Given the description of an element on the screen output the (x, y) to click on. 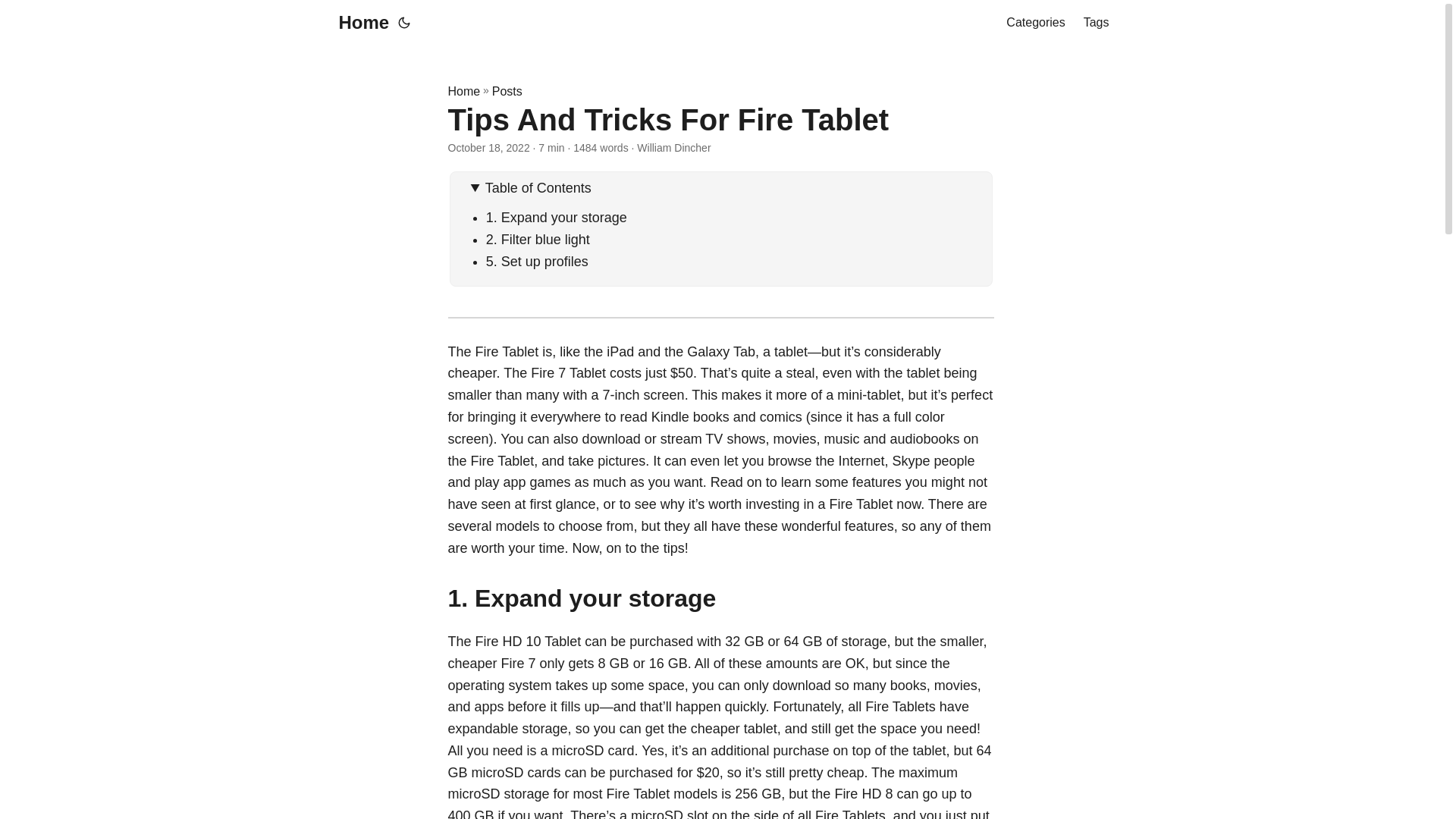
Categories (1035, 22)
Home (463, 91)
Posts (507, 91)
5. Set up profiles (537, 261)
Tags (1096, 22)
Tags (1096, 22)
2. Filter blue light (537, 239)
1. Expand your storage (556, 217)
Home (359, 22)
Categories (1035, 22)
